Given the description of an element on the screen output the (x, y) to click on. 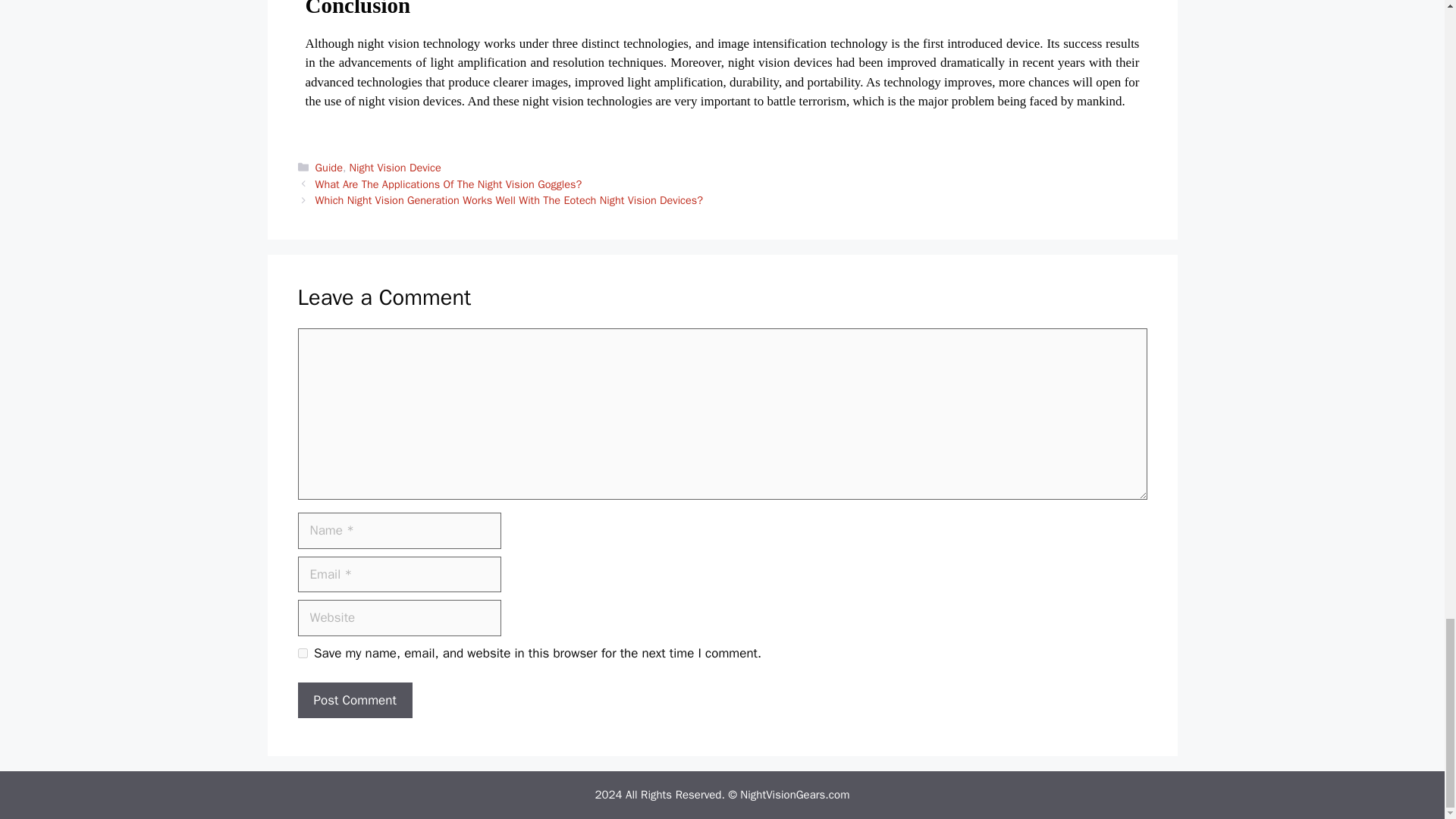
yes (302, 653)
Post Comment (354, 700)
Guide (328, 167)
